Given the description of an element on the screen output the (x, y) to click on. 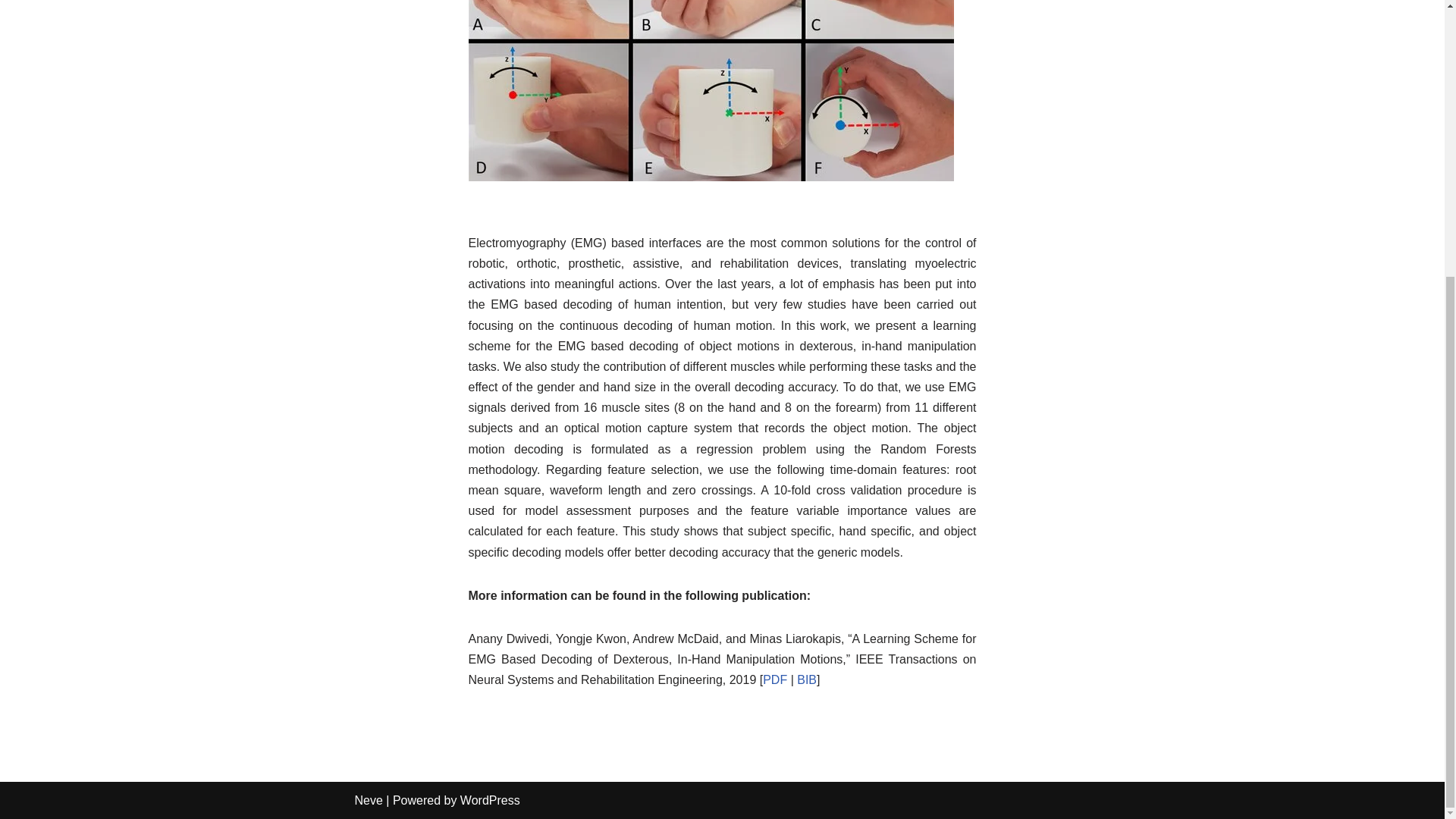
Neve (368, 799)
BIB (806, 679)
PDF (774, 679)
WordPress (489, 799)
